Given the description of an element on the screen output the (x, y) to click on. 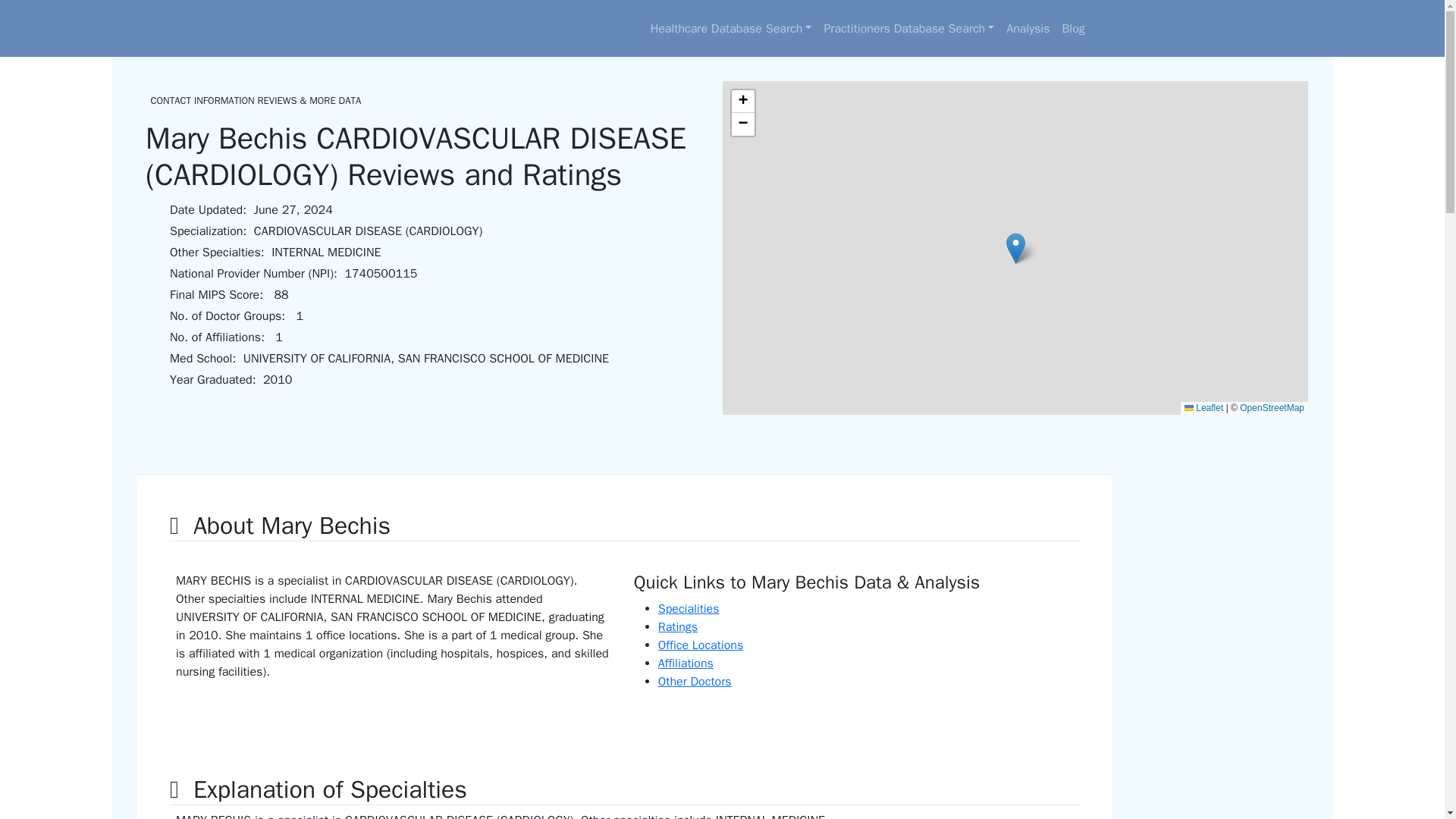
Other Doctors (695, 681)
Office Locations (700, 645)
Affiliations (685, 663)
Ratings (677, 626)
Analysis (1027, 28)
Practitioners Database Search (908, 28)
OpenStreetMap (1272, 407)
A JavaScript library for interactive maps (1204, 407)
Zoom out (742, 124)
Zoom in (742, 101)
Leaflet (1204, 407)
Blog (1072, 28)
Specialities (688, 608)
Healthcare Database Search (731, 28)
